Given the description of an element on the screen output the (x, y) to click on. 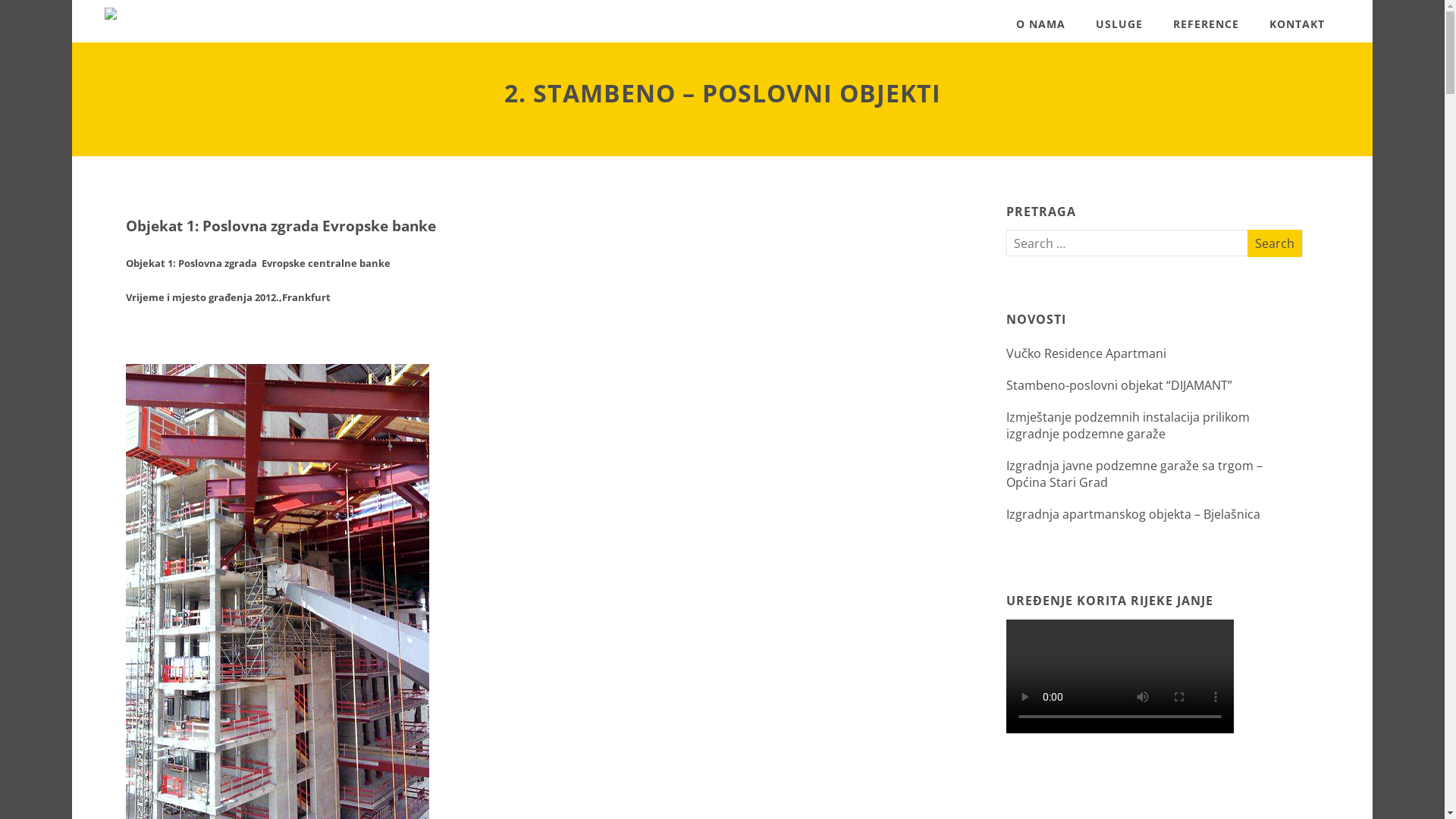
Search Element type: text (1274, 243)
O NAMA Element type: text (1040, 23)
USLUGE Element type: text (1118, 23)
REFERENCE Element type: text (1205, 23)
KONTAKT Element type: text (1296, 23)
